Given the description of an element on the screen output the (x, y) to click on. 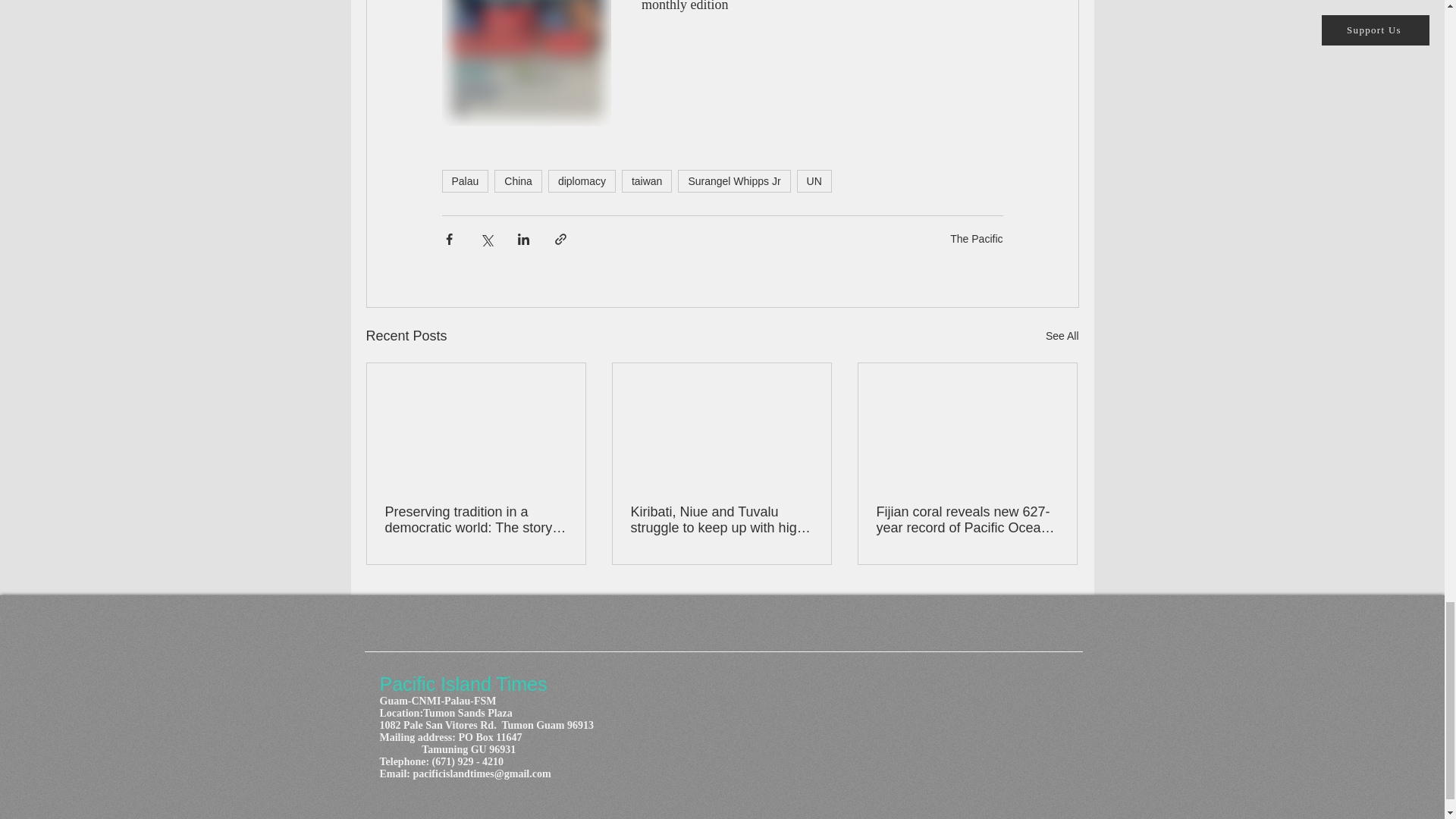
UN (813, 180)
Palau (464, 180)
Google Maps (883, 744)
China (518, 180)
Surangel Whipps Jr (734, 180)
diplomacy (581, 180)
taiwan (646, 180)
